Given the description of an element on the screen output the (x, y) to click on. 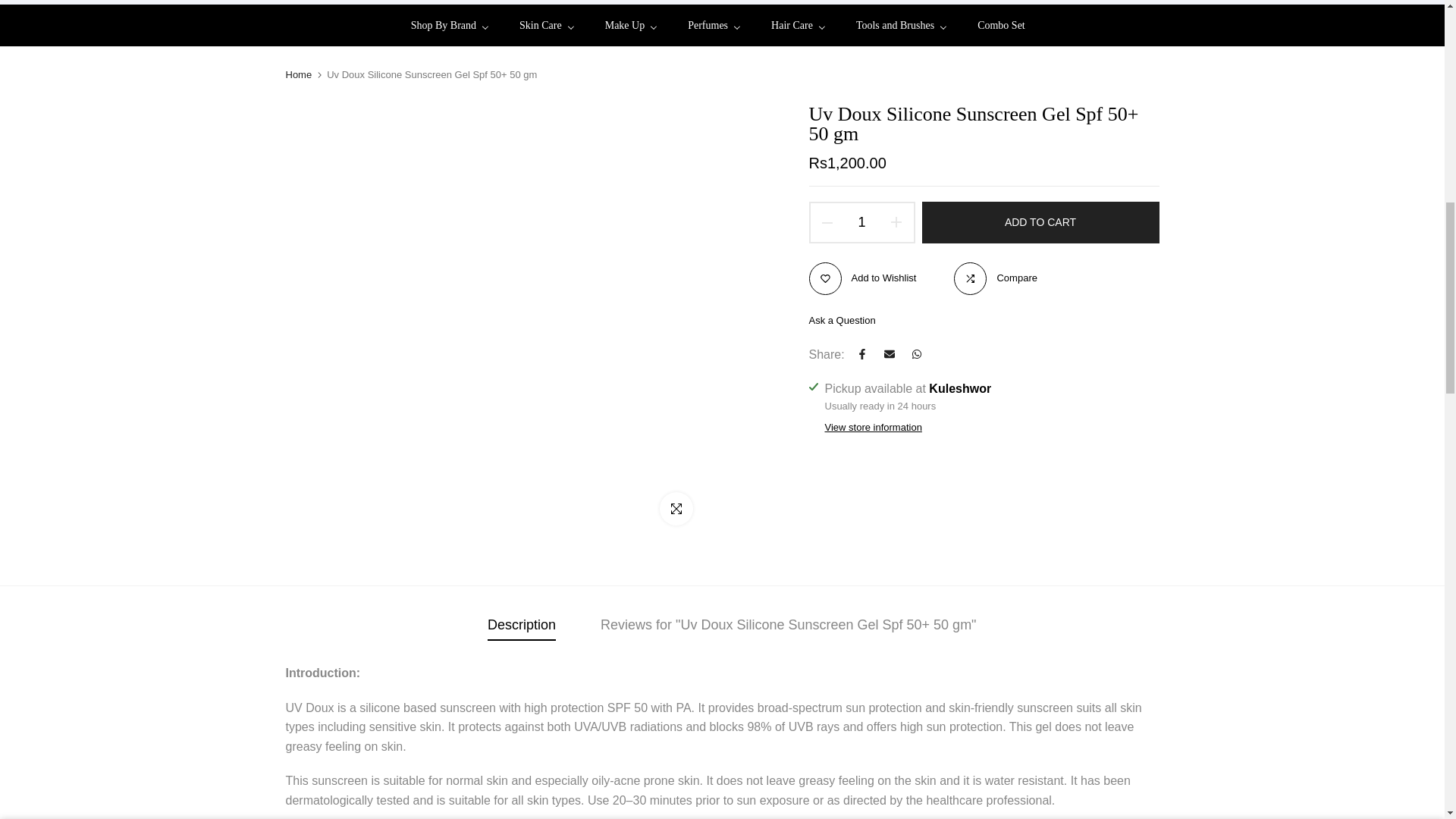
Share on Facebook (861, 354)
Share on Email (889, 354)
Share on WhatsApp (917, 354)
1 (854, 35)
Shop By Brand (456, 25)
